Given the description of an element on the screen output the (x, y) to click on. 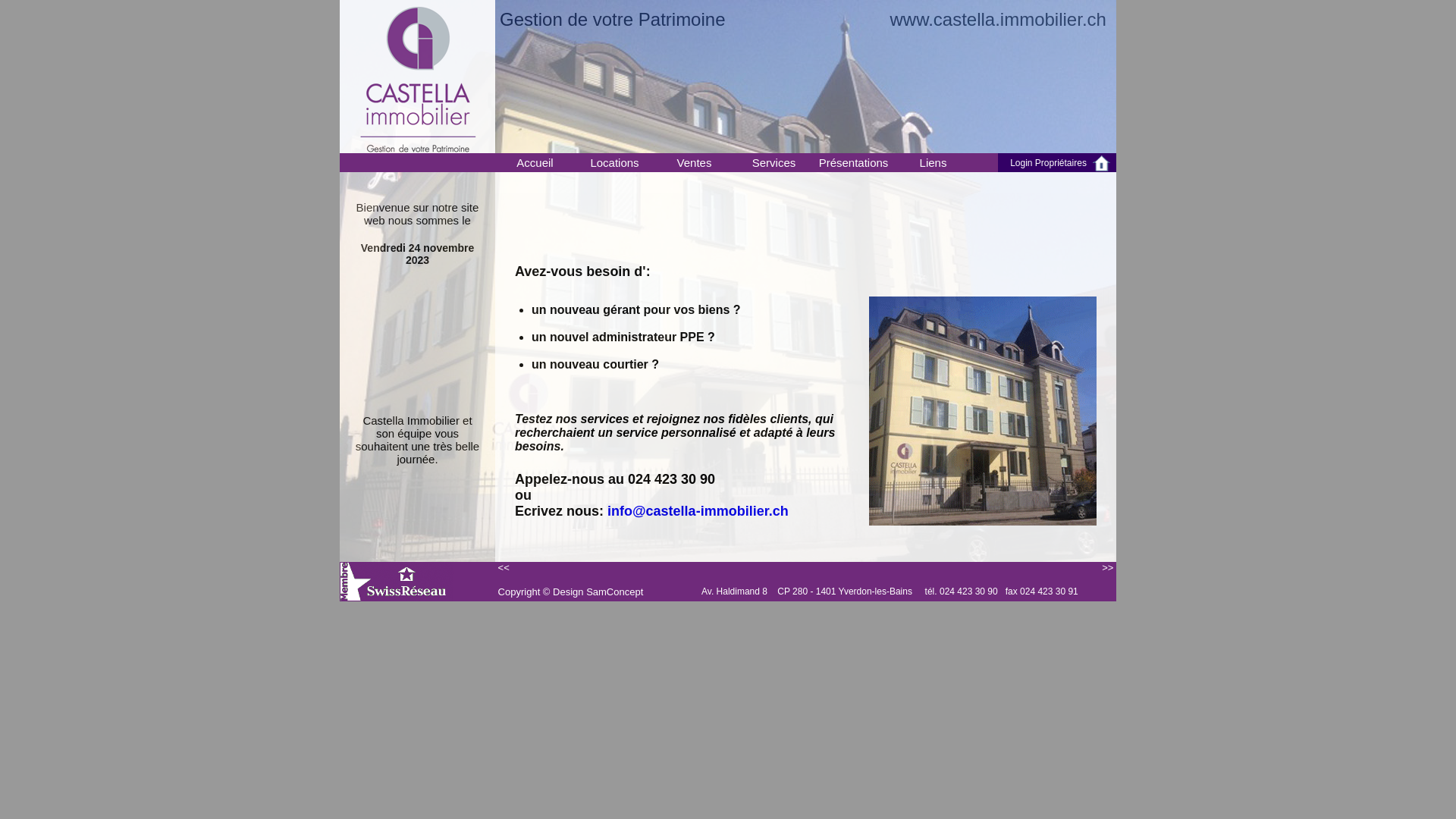
 << Element type: text (502, 567)
Ventes Element type: text (694, 162)
Locations Element type: text (614, 162)
Liens Element type: text (932, 162)
Accueil Element type: text (534, 162)
>>  Element type: text (1108, 567)
Design SamConcept Element type: text (597, 590)
Services Element type: text (773, 162)
info@castella-immobilier.ch Element type: text (697, 510)
